Given the description of an element on the screen output the (x, y) to click on. 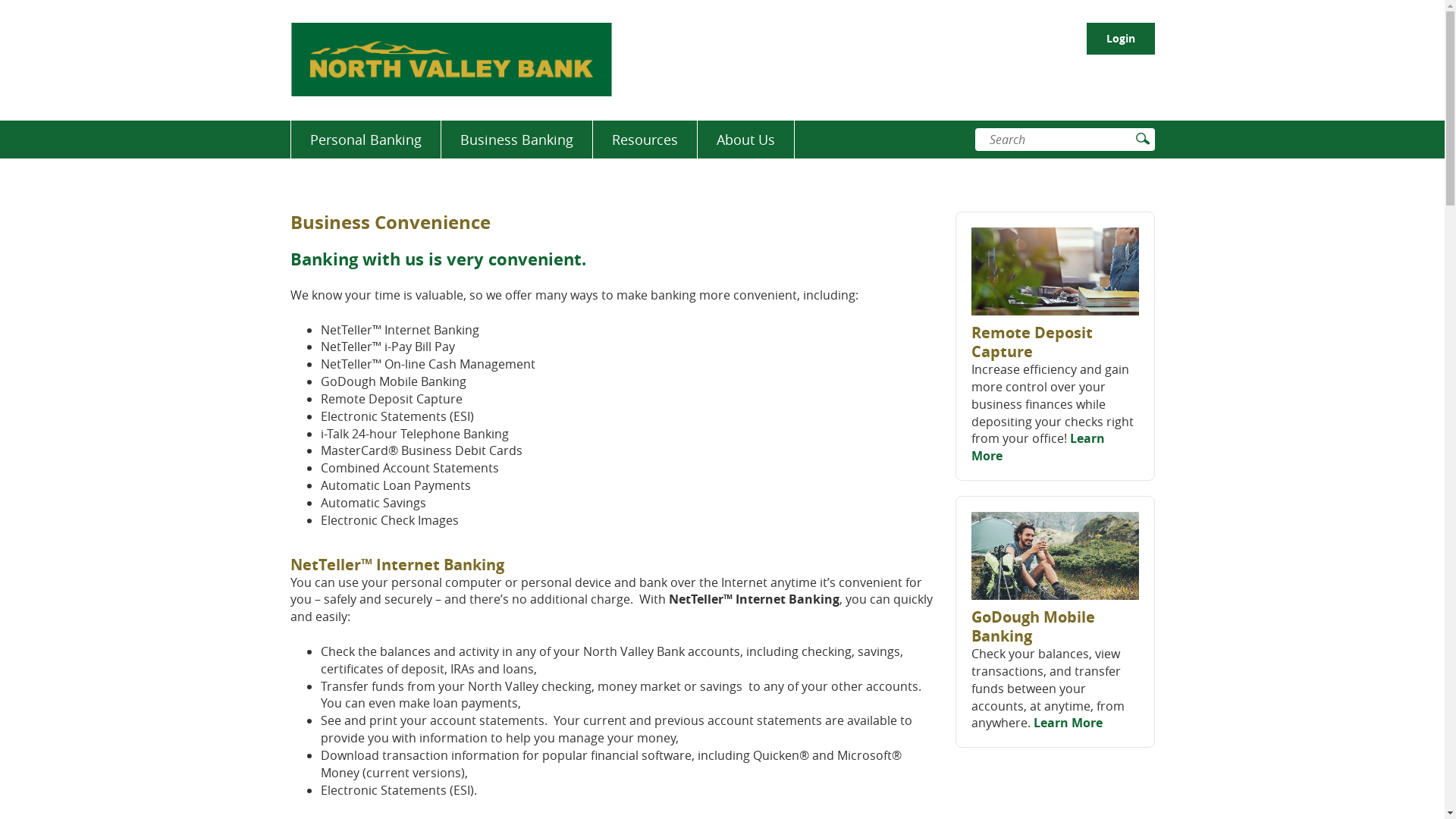
Learn More Element type: text (1067, 722)
Login Element type: text (1119, 38)
Submit Search Element type: text (1139, 138)
North Valley Bank, Thornton, CO Element type: hover (450, 59)
Learn More Element type: text (1037, 446)
Search Element type: hover (1053, 139)
